Given the description of an element on the screen output the (x, y) to click on. 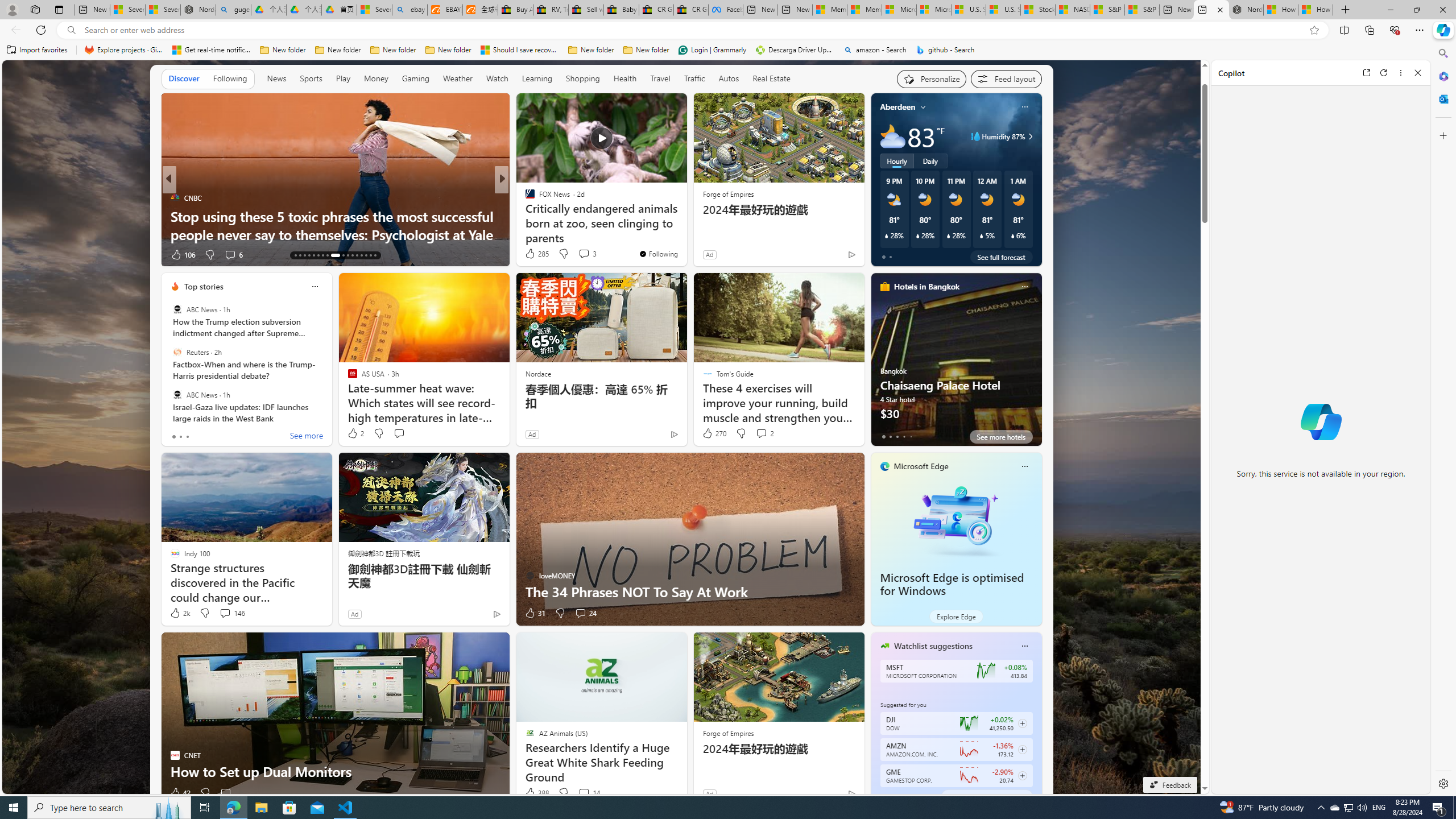
Health (624, 79)
Side bar (1443, 418)
hotels-header-icon (884, 286)
View comments 6 Comment (580, 254)
Hide this story (652, 106)
AutomationID: tab-25 (356, 255)
243 Like (532, 254)
Shopping (583, 79)
Facebook (725, 9)
Descarga Driver Updater (794, 49)
2 Like (355, 433)
